Given the description of an element on the screen output the (x, y) to click on. 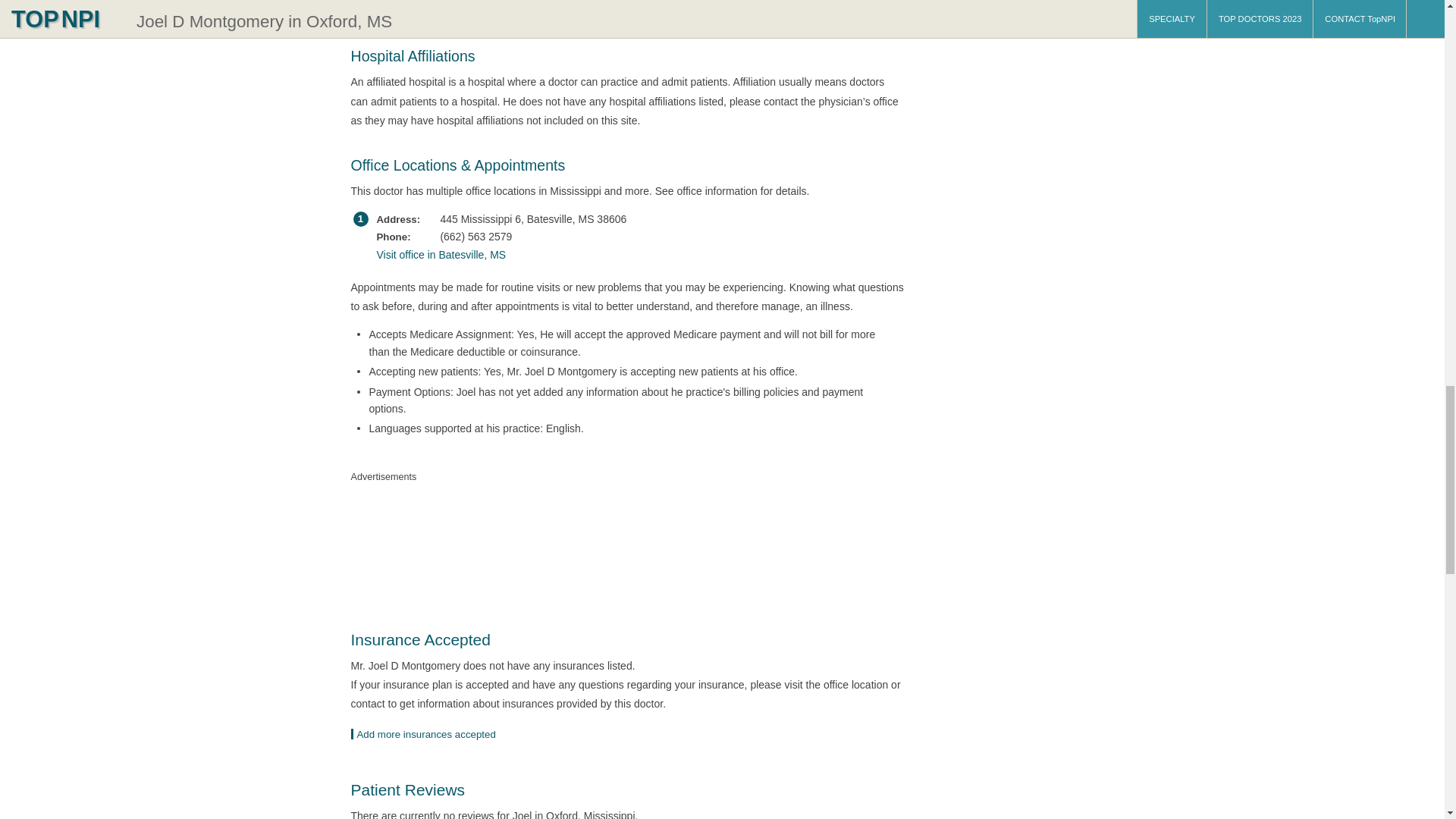
Visit office in Batesville, MS (622, 254)
Update location (428, 734)
Add more insurances accepted (428, 734)
Office in Batesville, MS (622, 254)
